Given the description of an element on the screen output the (x, y) to click on. 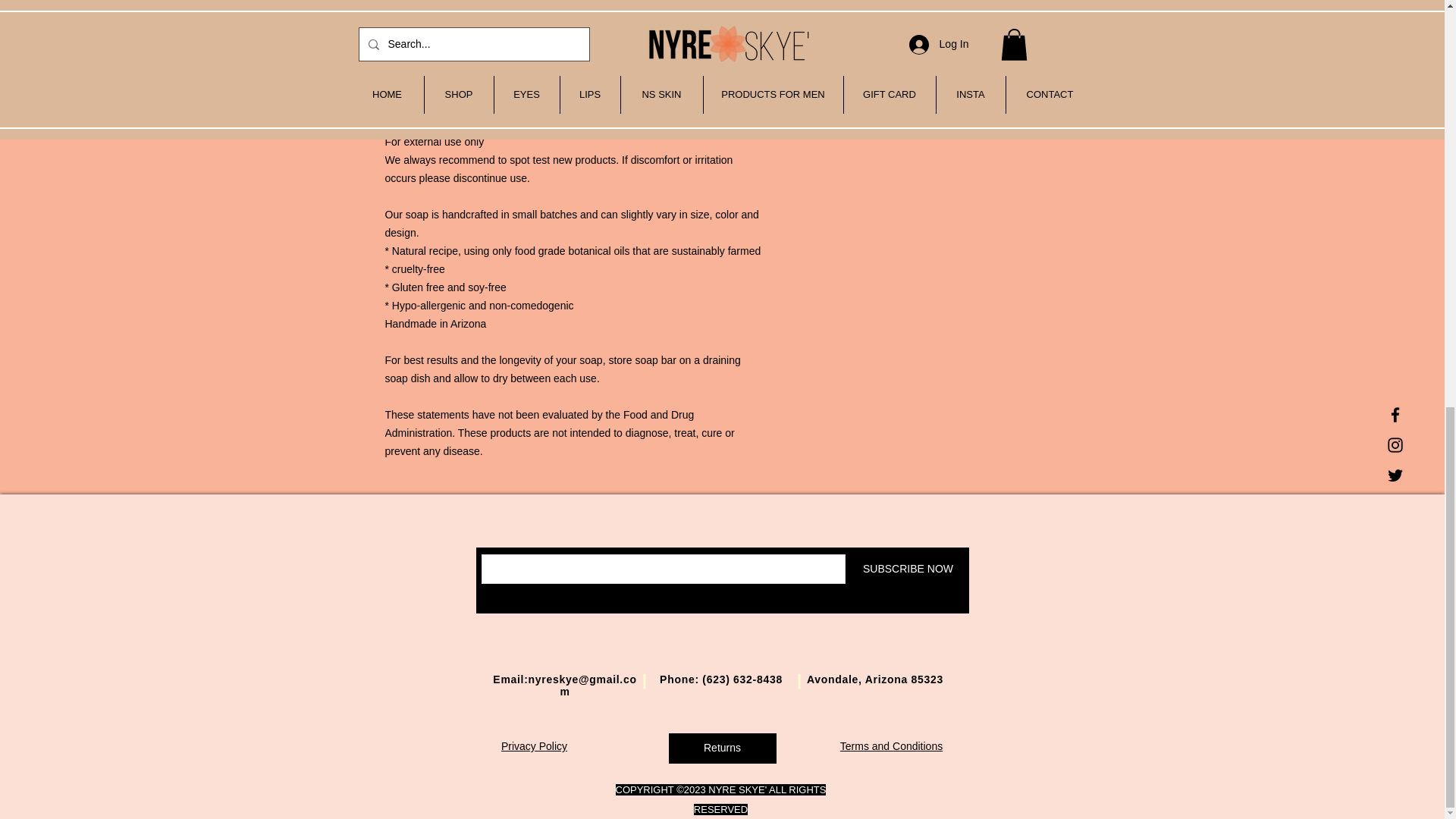
Terms and Conditions (891, 746)
Returns (722, 748)
SUBSCRIBE NOW (906, 568)
Privacy Policy (533, 746)
